Given the description of an element on the screen output the (x, y) to click on. 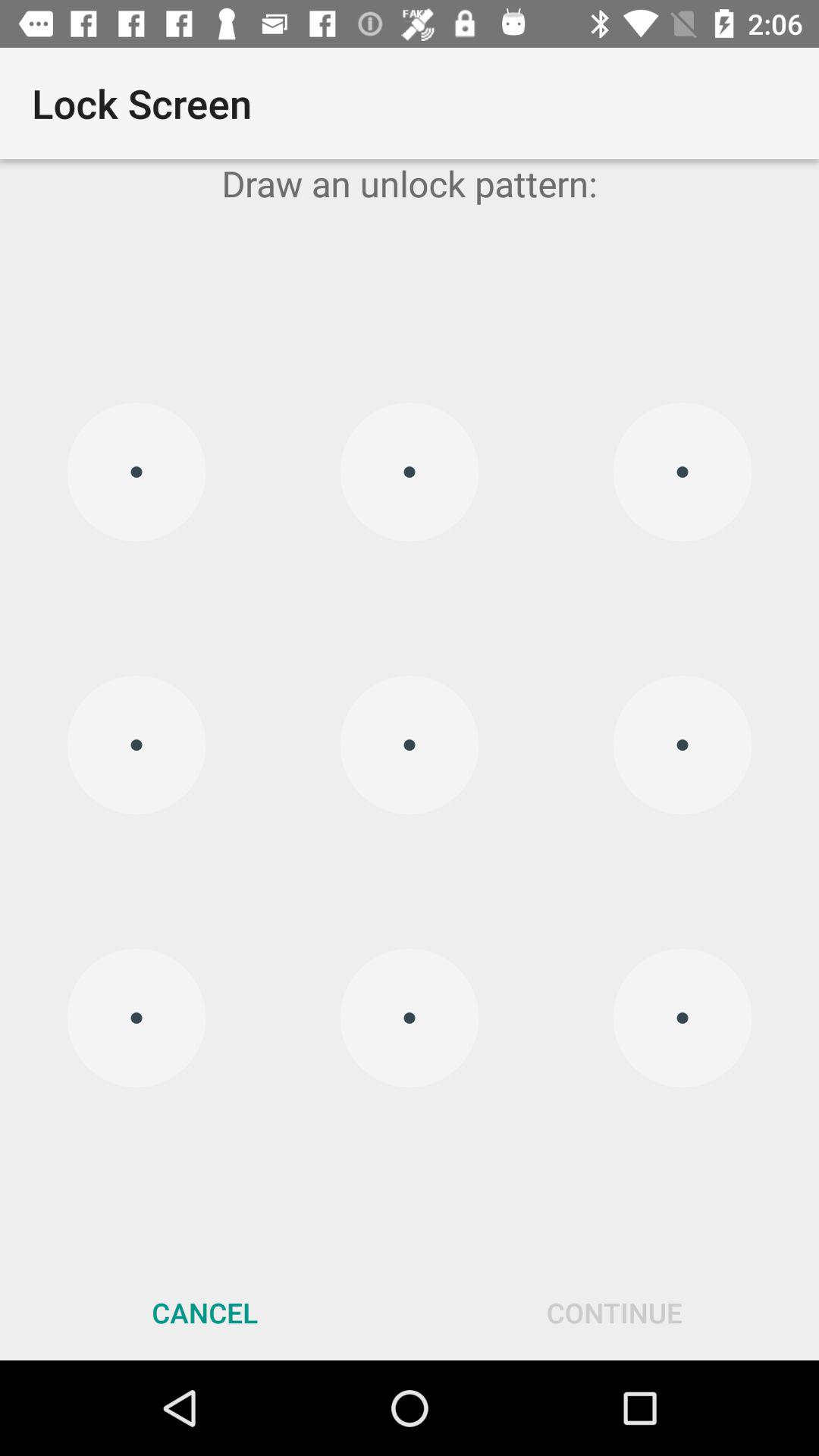
scroll to the draw an unlock icon (409, 183)
